Given the description of an element on the screen output the (x, y) to click on. 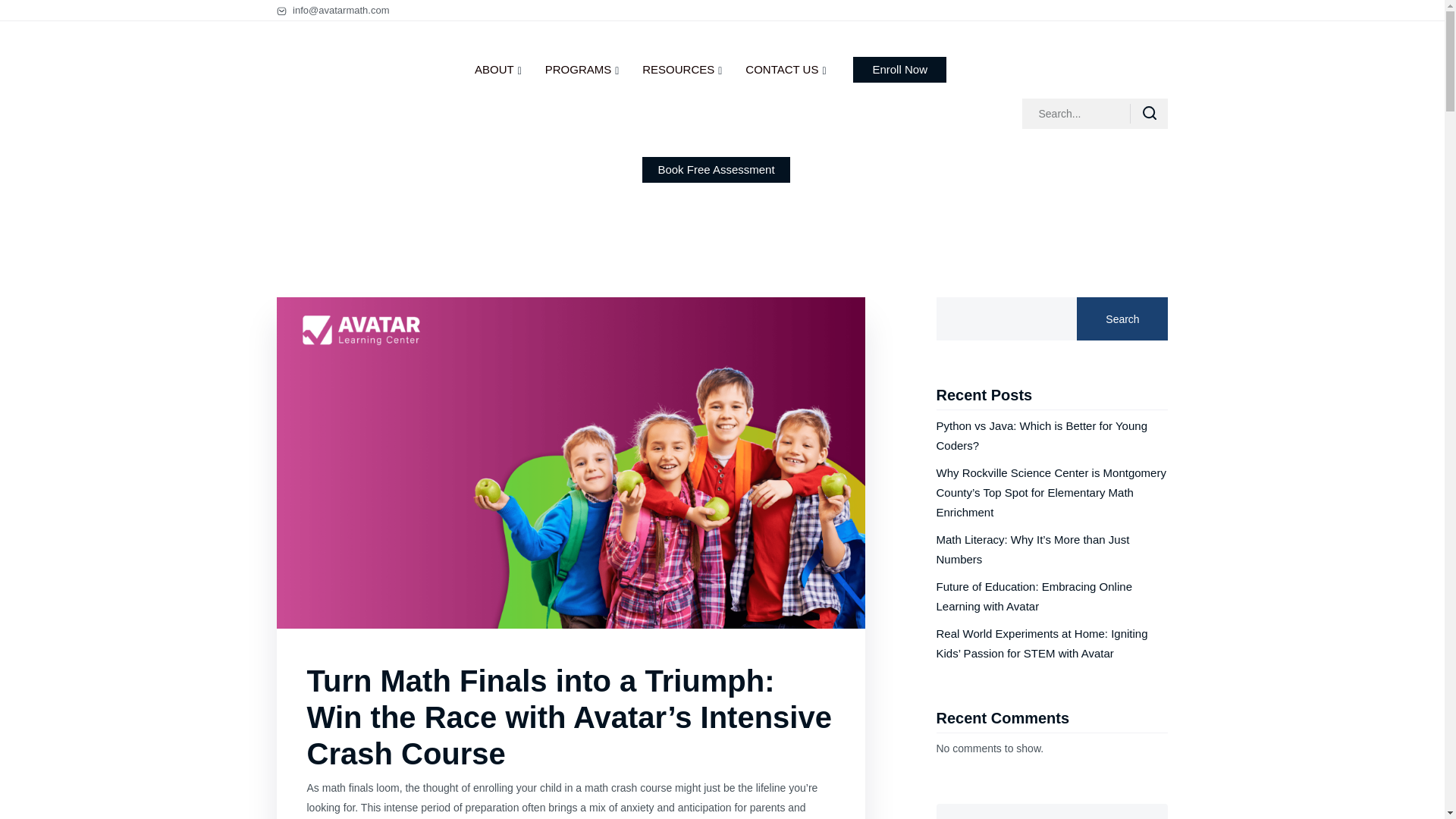
Book Free Assessment (715, 169)
PROGRAMS (582, 69)
CONTACT US (785, 69)
RESOURCES (682, 69)
Enroll Now (899, 69)
PROGRAMS (582, 69)
RESOURCES (682, 69)
